Given the description of an element on the screen output the (x, y) to click on. 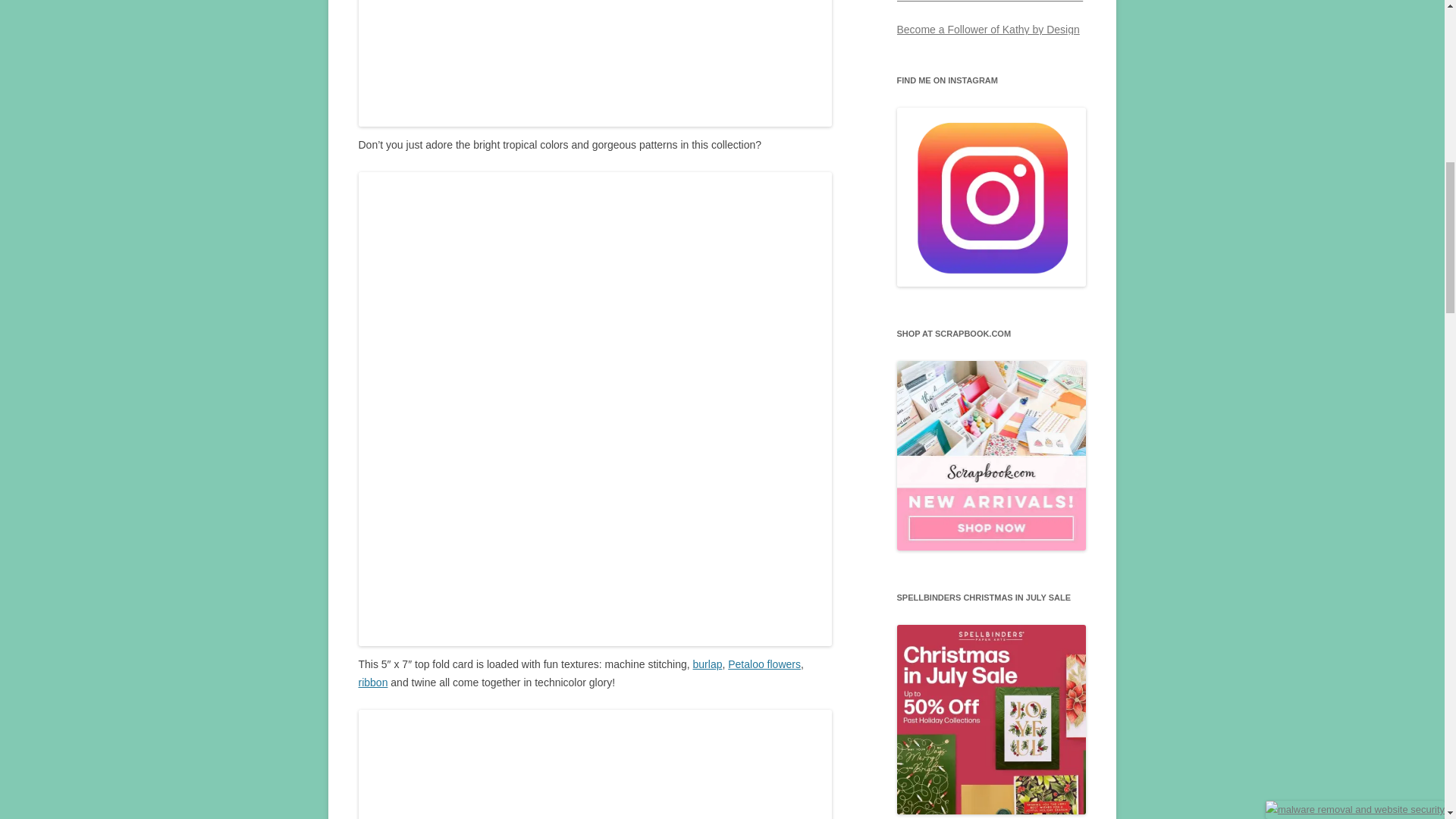
ribbon (372, 682)
Petaloo flowers (764, 664)
burlap (707, 664)
